Given the description of an element on the screen output the (x, y) to click on. 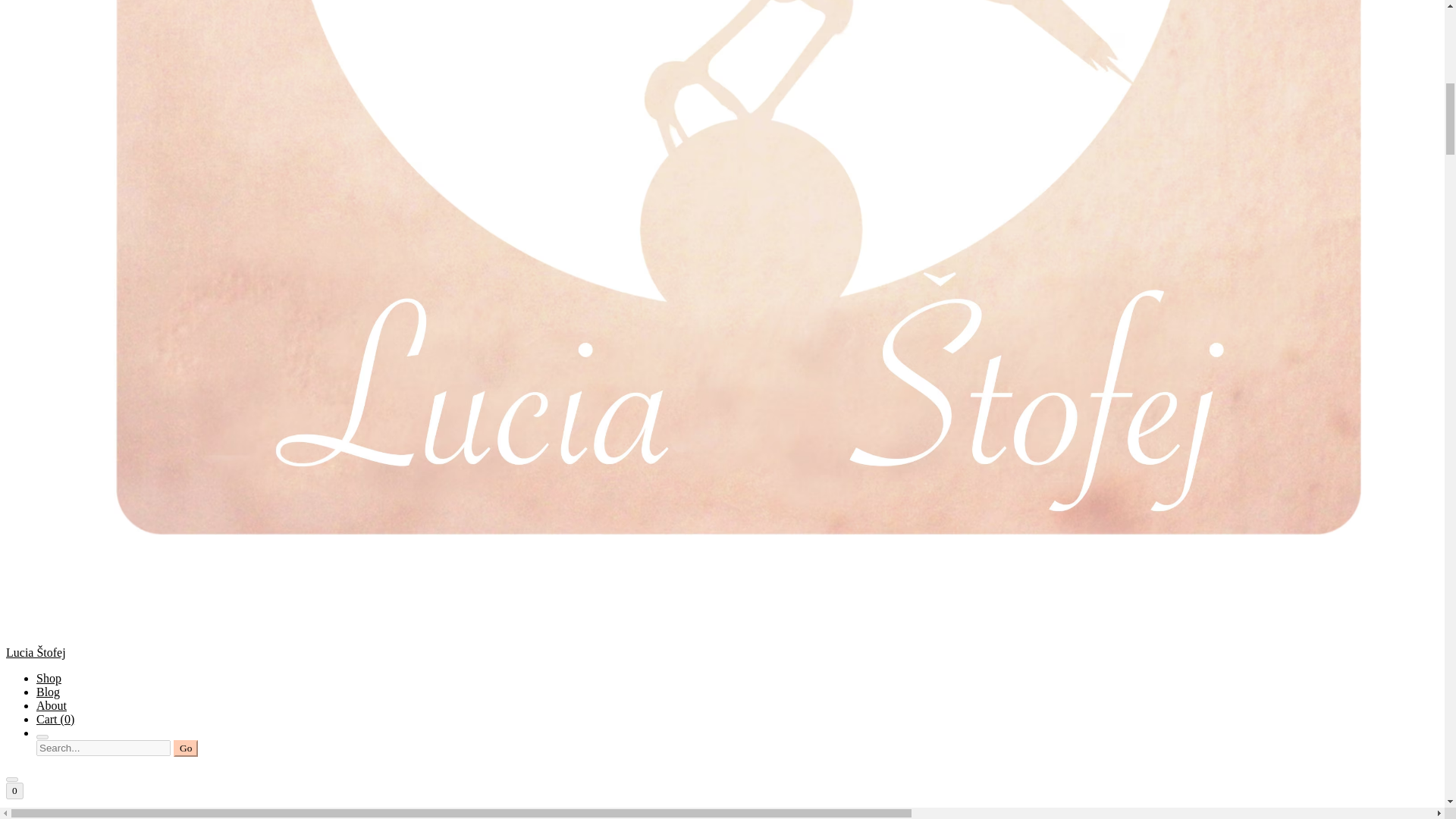
Go (185, 748)
Go (185, 748)
Shop (48, 677)
Blog (47, 691)
0 (14, 790)
About (51, 705)
